Given the description of an element on the screen output the (x, y) to click on. 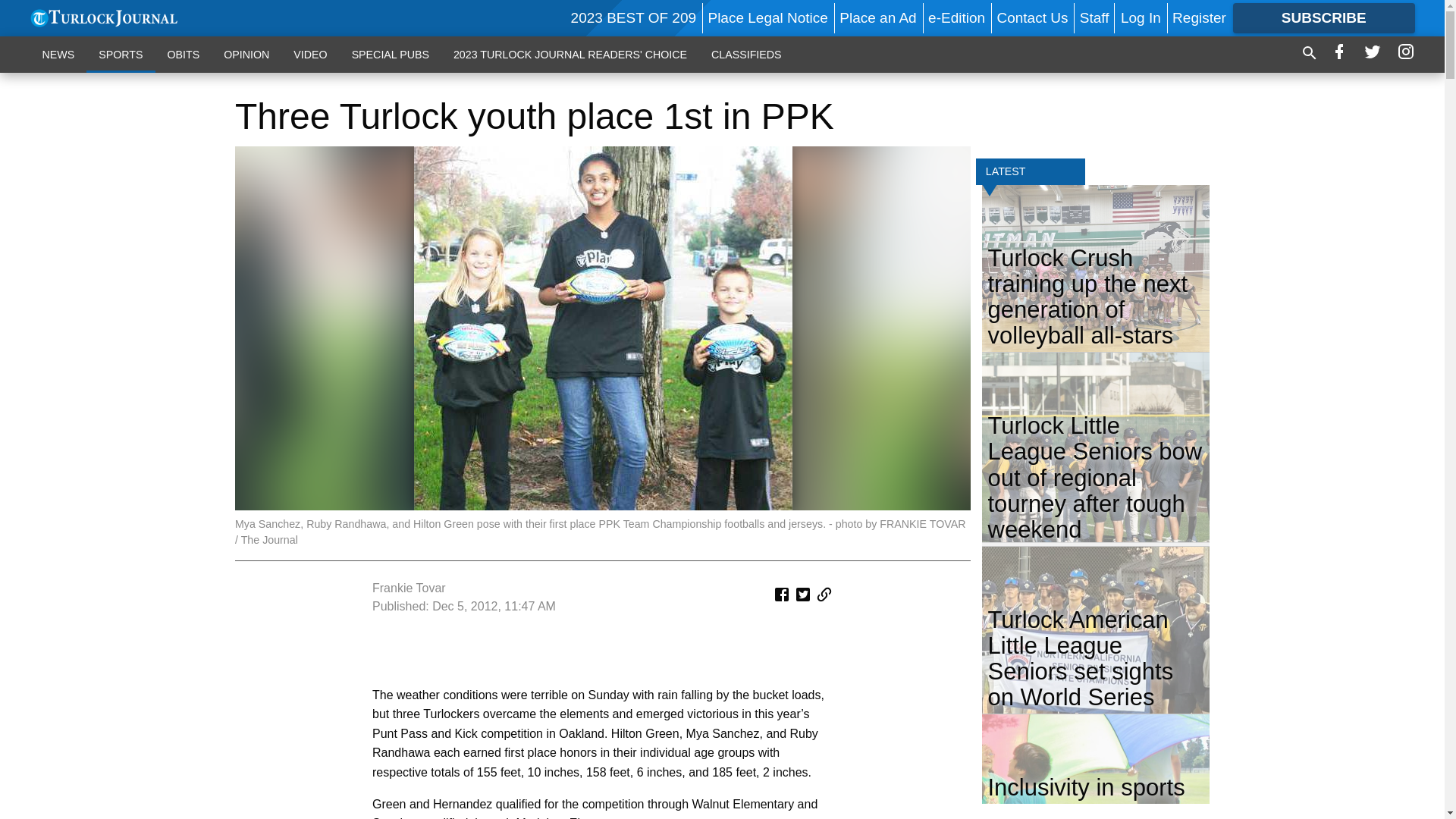
VIDEO (310, 54)
Place an Ad (877, 17)
SPECIAL PUBS (390, 54)
Register (1198, 17)
2023 TURLOCK JOURNAL READERS' CHOICE (569, 54)
OPINION (246, 54)
OBITS (182, 54)
2023 BEST OF 209 (632, 17)
Contact Us (1031, 17)
SPORTS (119, 54)
